Given the description of an element on the screen output the (x, y) to click on. 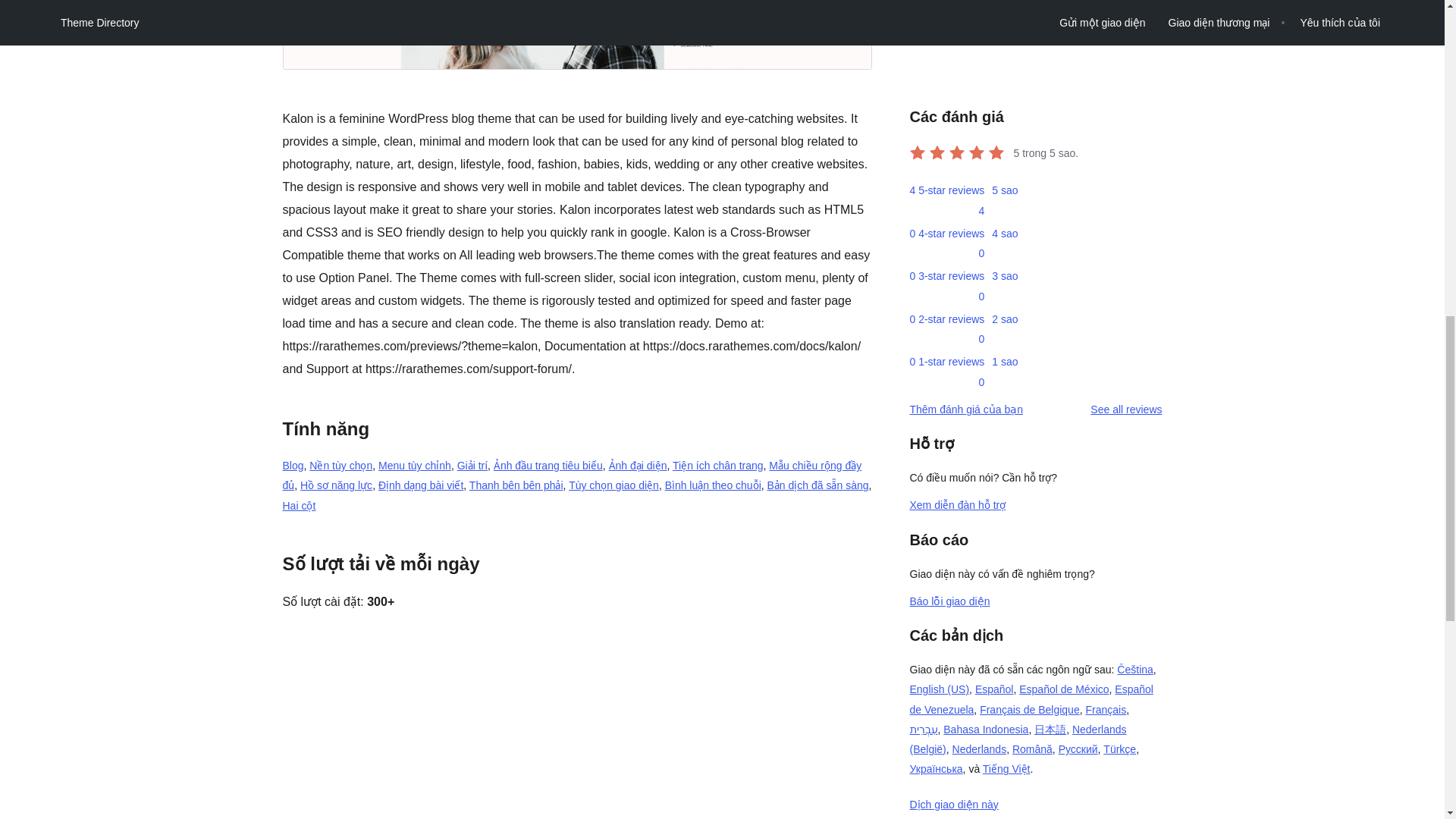
Blog (292, 465)
